Given the description of an element on the screen output the (x, y) to click on. 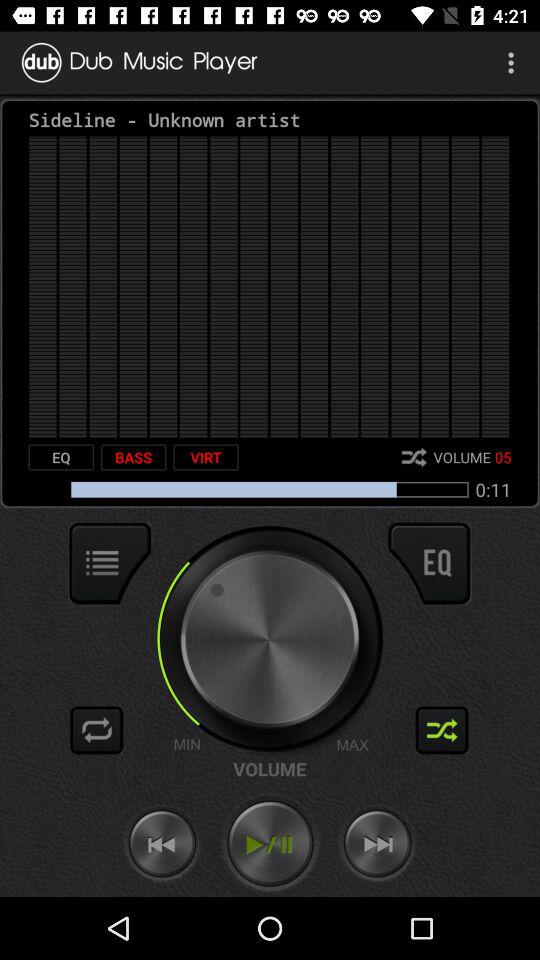
open item to the left of the  bass  icon (61, 457)
